Given the description of an element on the screen output the (x, y) to click on. 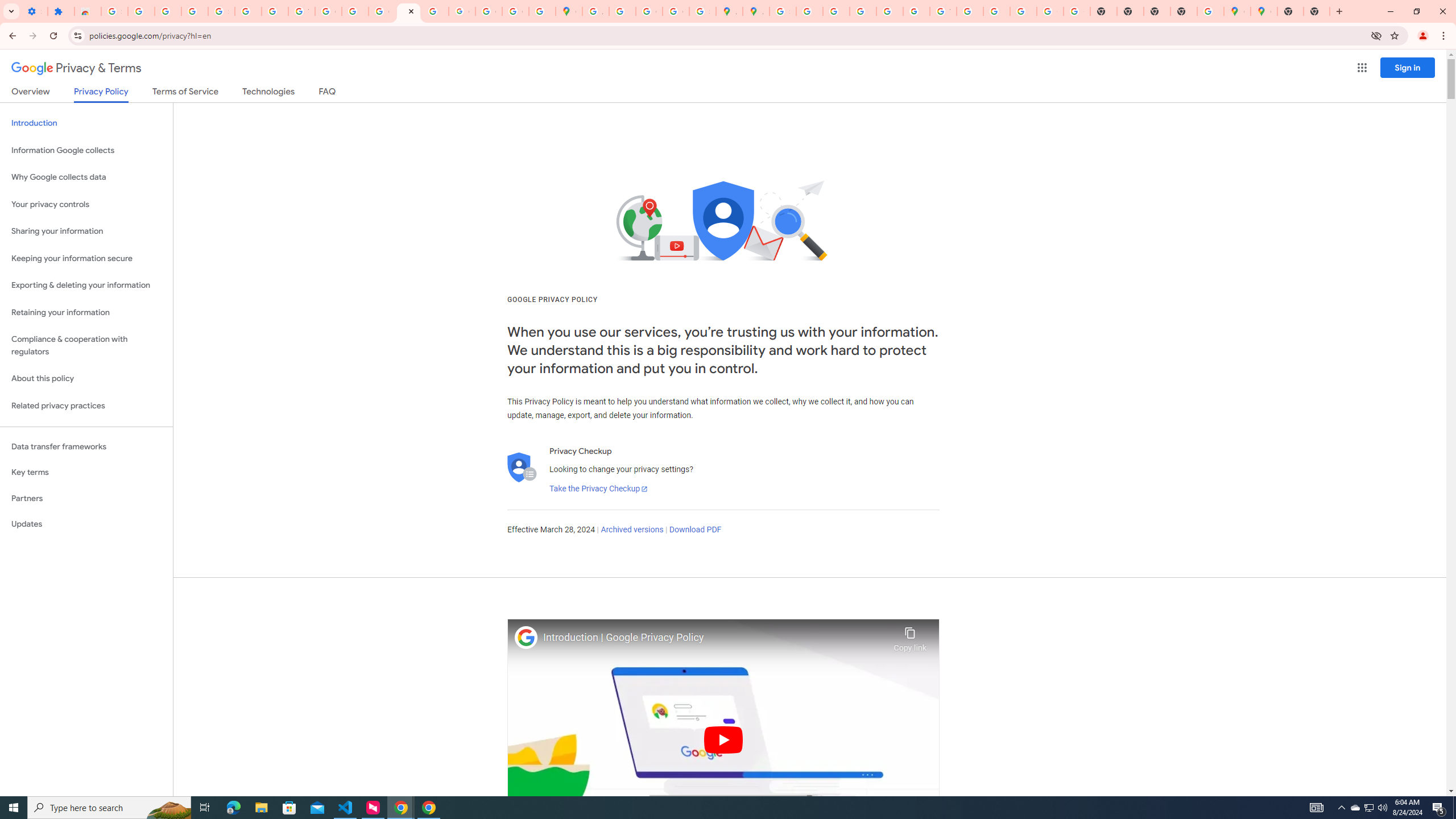
Extensions (61, 11)
Privacy Policy (100, 94)
